Given the description of an element on the screen output the (x, y) to click on. 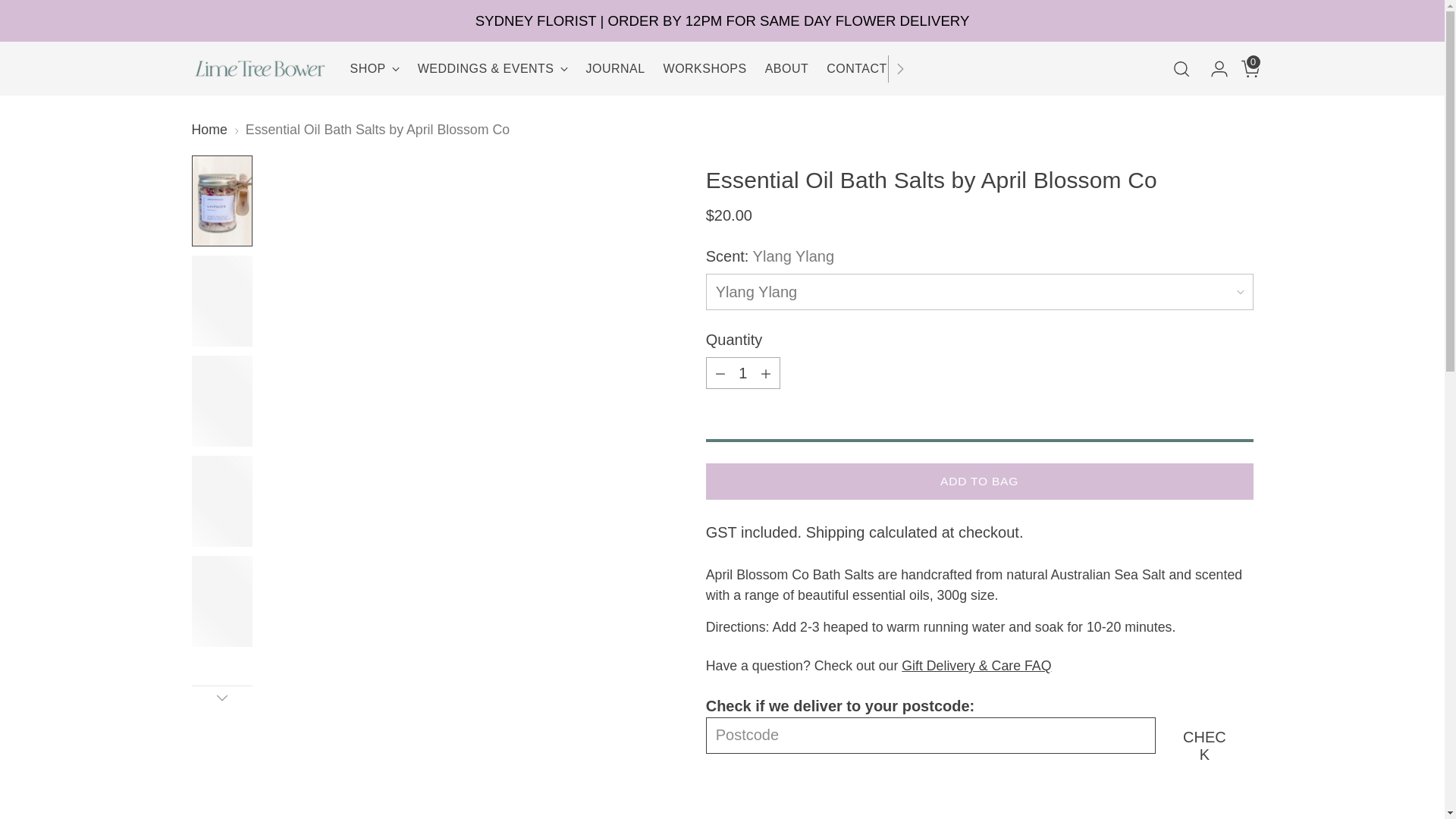
SHOP (374, 68)
Down (220, 697)
1 (743, 372)
